Given the description of an element on the screen output the (x, y) to click on. 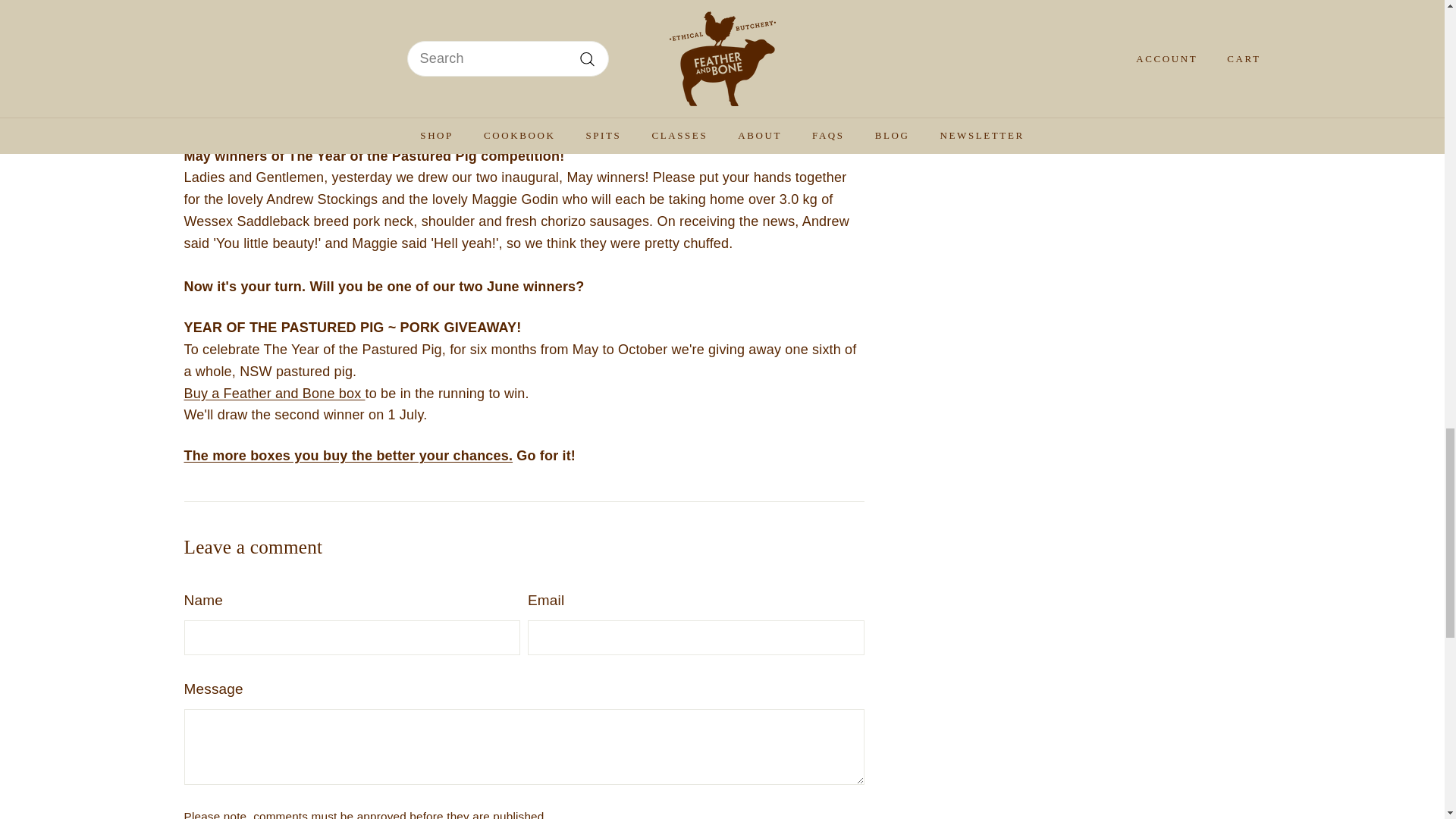
Feather and Bone Boxes (274, 393)
The Year of the Pastured Pig (496, 63)
Feather and Bone boxes (347, 455)
